Given the description of an element on the screen output the (x, y) to click on. 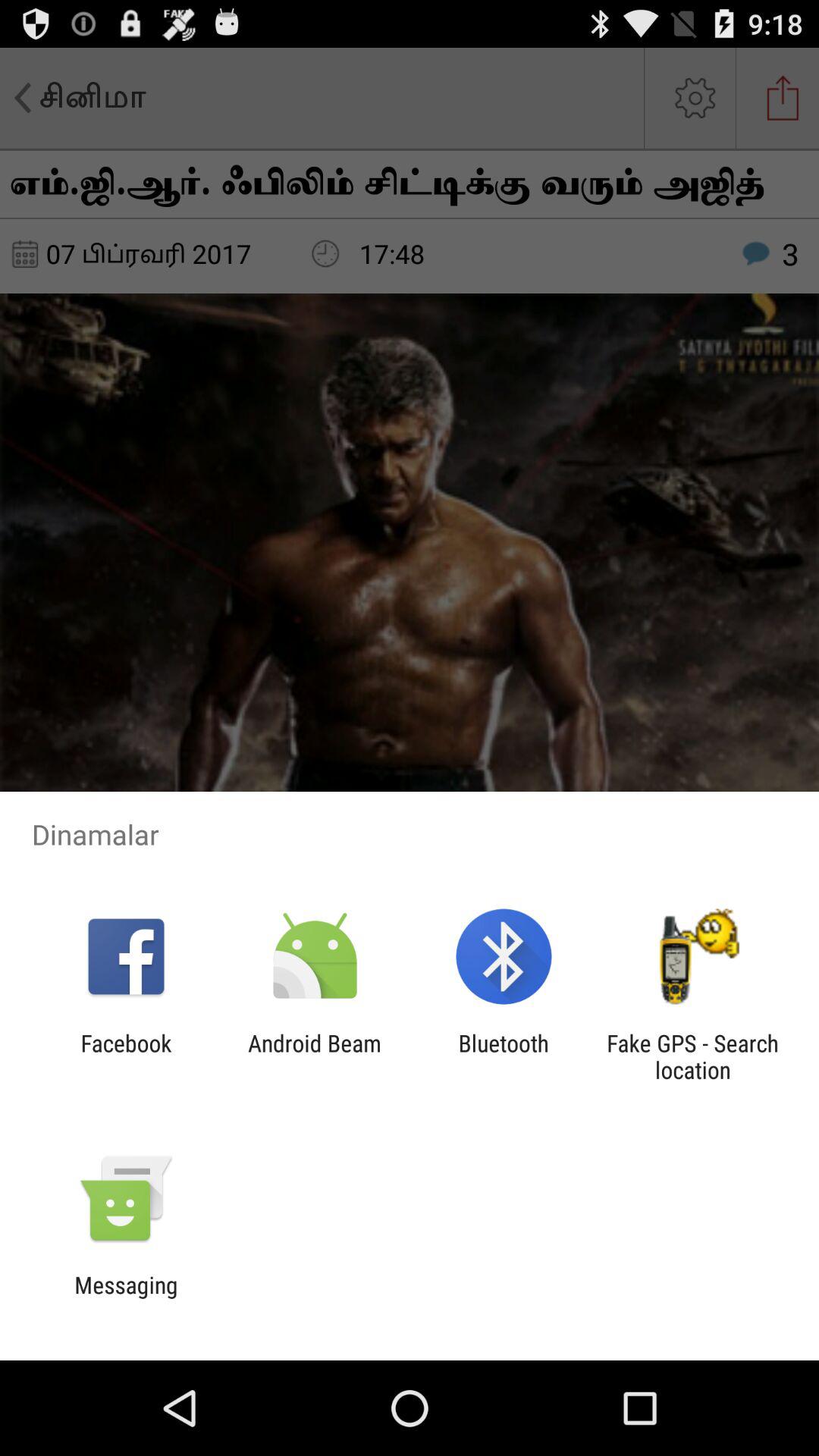
choose the icon next to the fake gps search icon (503, 1056)
